Given the description of an element on the screen output the (x, y) to click on. 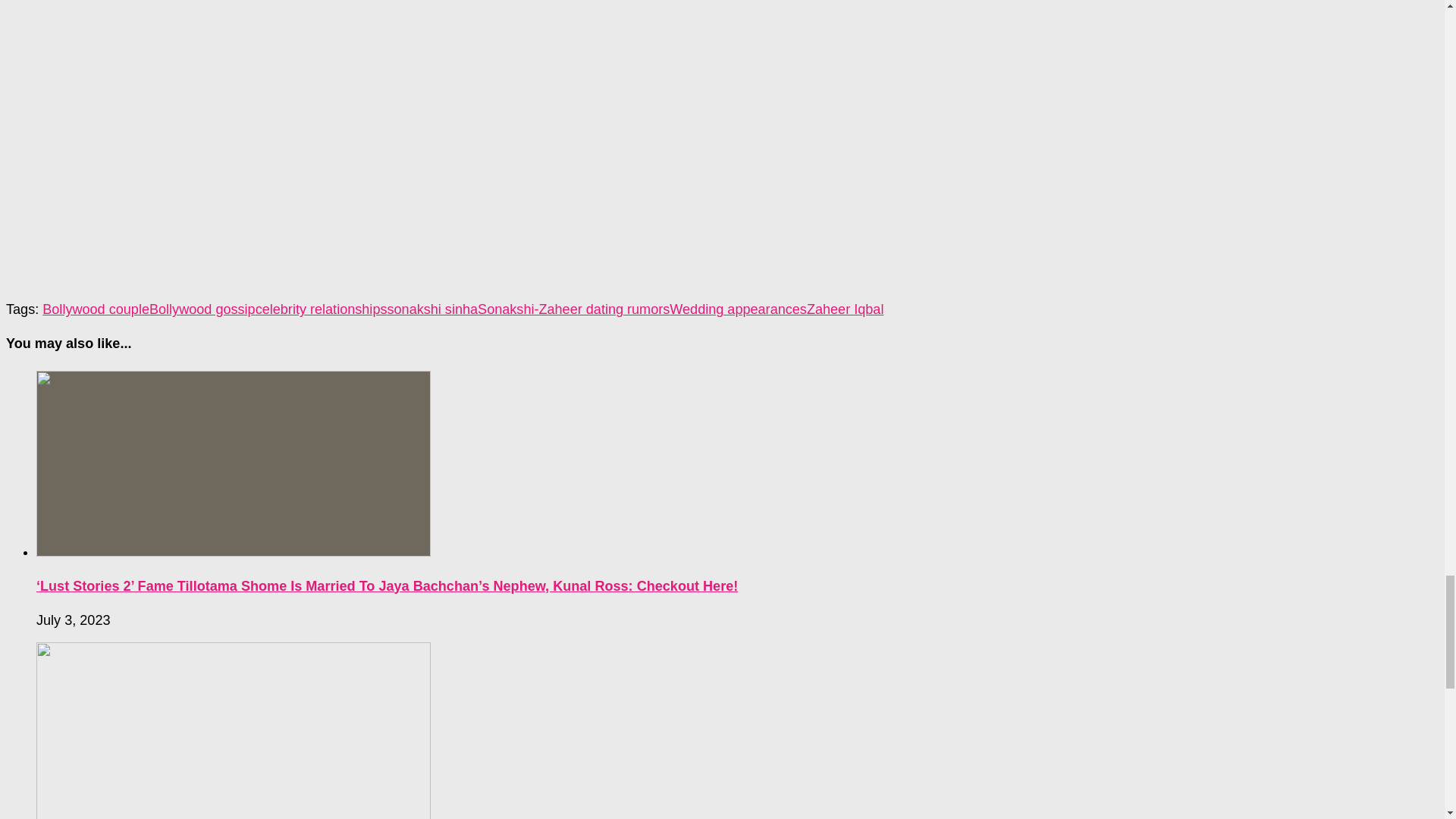
celebrity relationships (321, 309)
Sonakshi-Zaheer dating rumors (573, 309)
Wedding appearances (737, 309)
Bollywood couple (95, 309)
sonakshi sinha (432, 309)
Bollywood gossip (202, 309)
Zaheer Iqbal (844, 309)
